Given the description of an element on the screen output the (x, y) to click on. 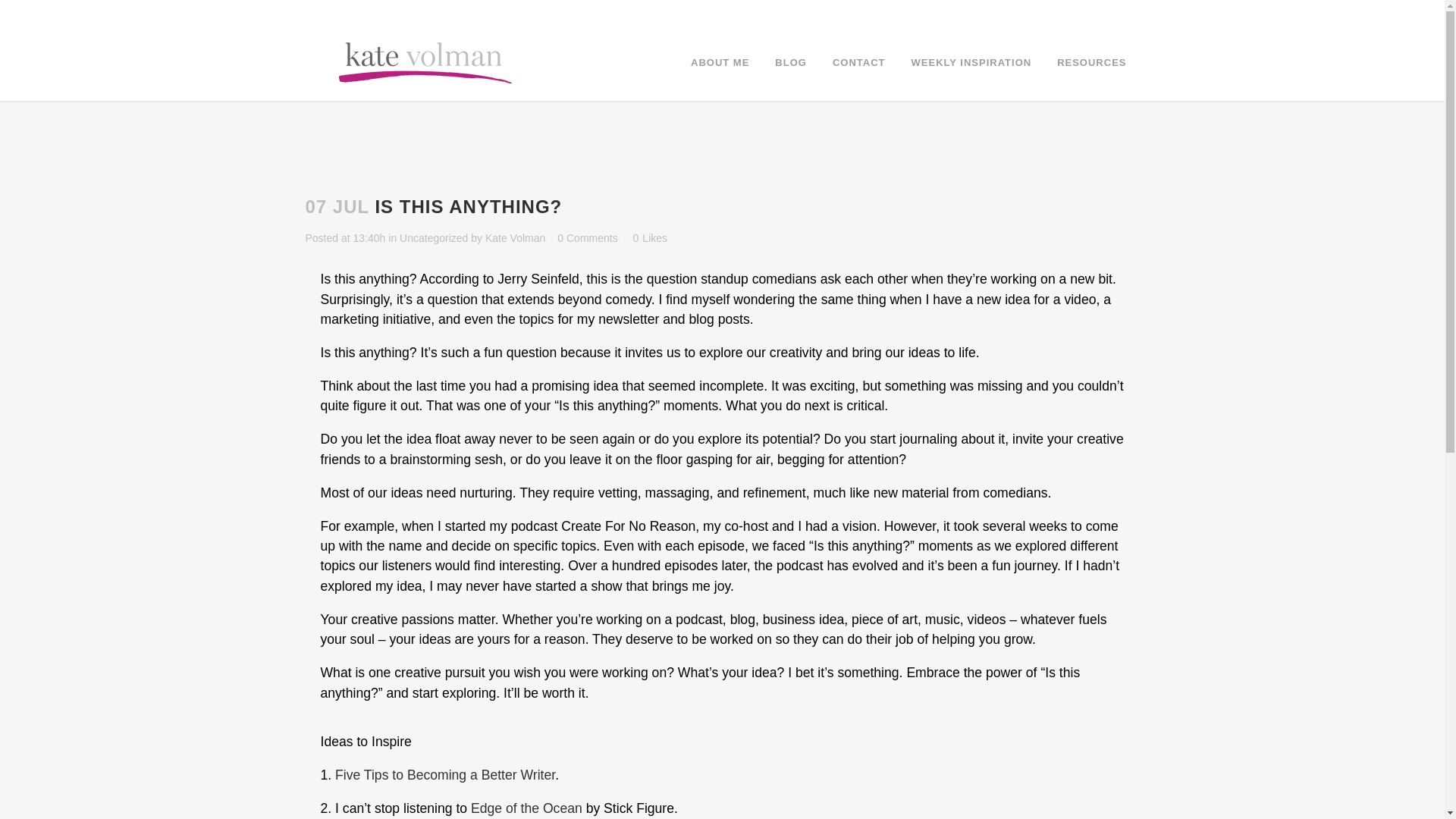
RESOURCES (1090, 62)
Kate Volman (514, 237)
Like this (649, 237)
CONTACT (858, 62)
Edge of the Ocean (526, 807)
0 Likes (649, 237)
ABOUT ME (719, 62)
Five Tips to Becoming a Better Writer (444, 774)
Uncategorized (432, 237)
0 Comments (587, 237)
WEEKLY INSPIRATION (971, 62)
